Given the description of an element on the screen output the (x, y) to click on. 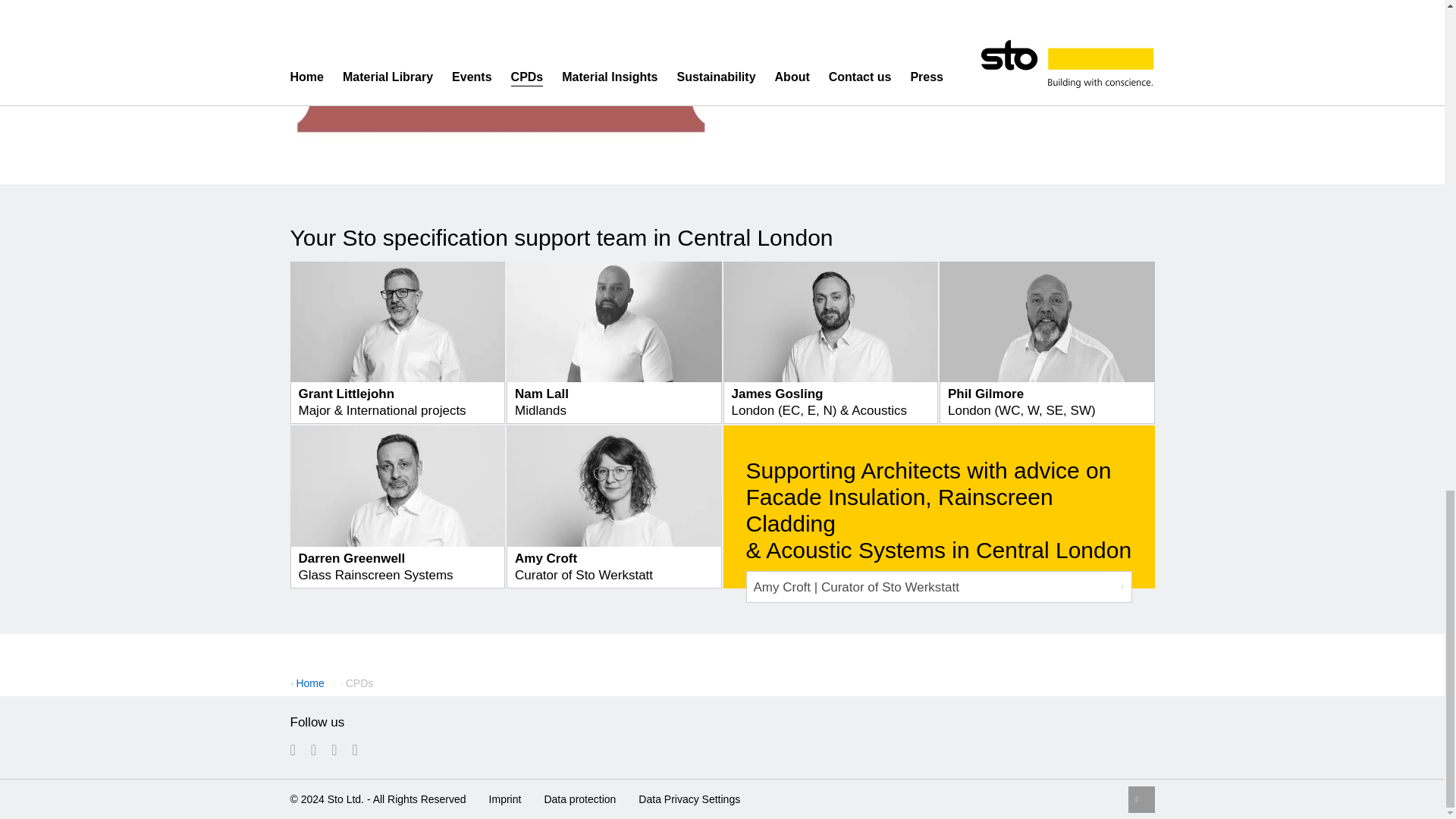
Imprint (505, 798)
CPDs (357, 683)
Data protection (579, 798)
Home (309, 683)
Data Privacy Settings (689, 798)
